Given the description of an element on the screen output the (x, y) to click on. 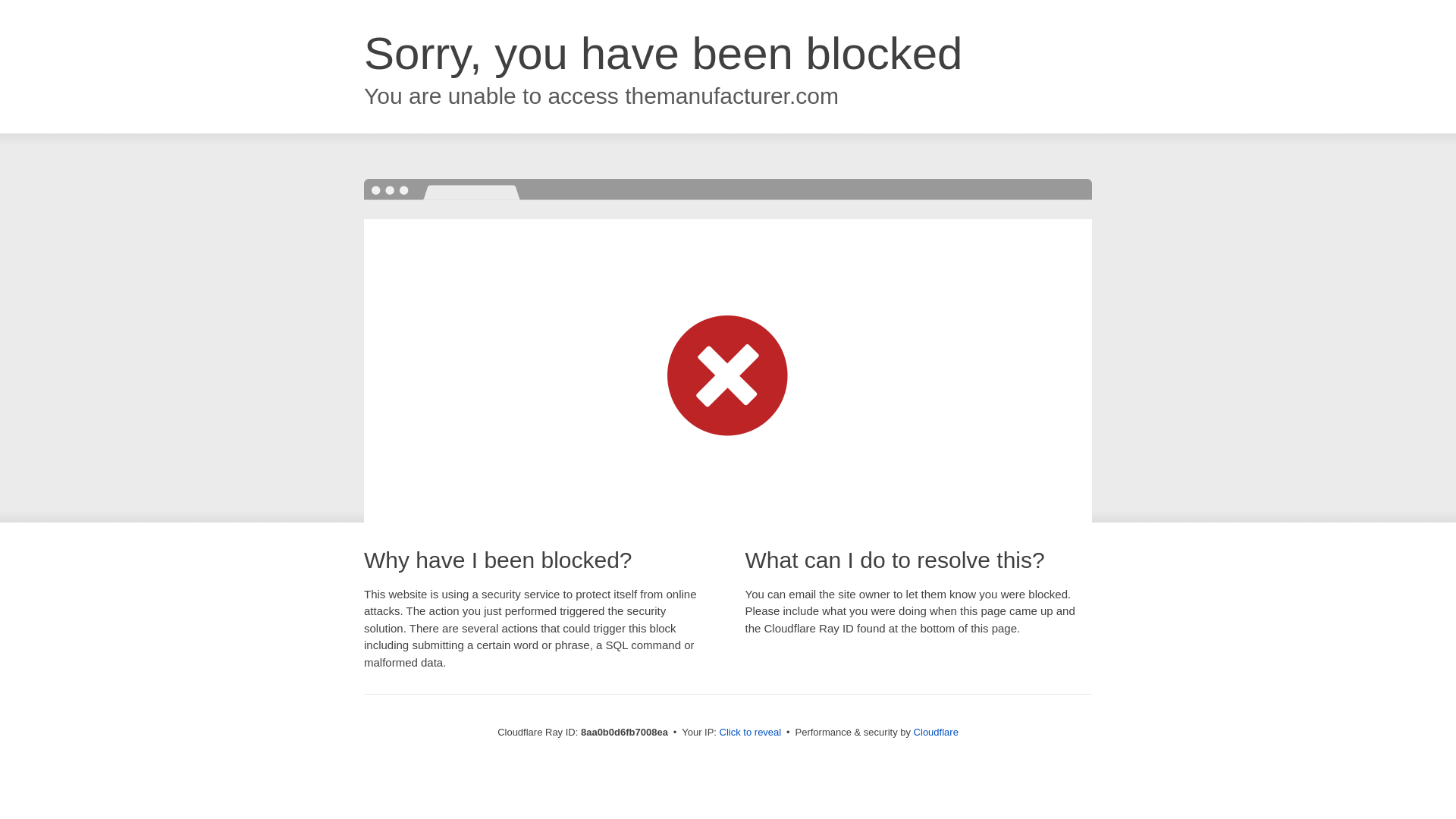
Cloudflare (936, 731)
Click to reveal (750, 732)
